Given the description of an element on the screen output the (x, y) to click on. 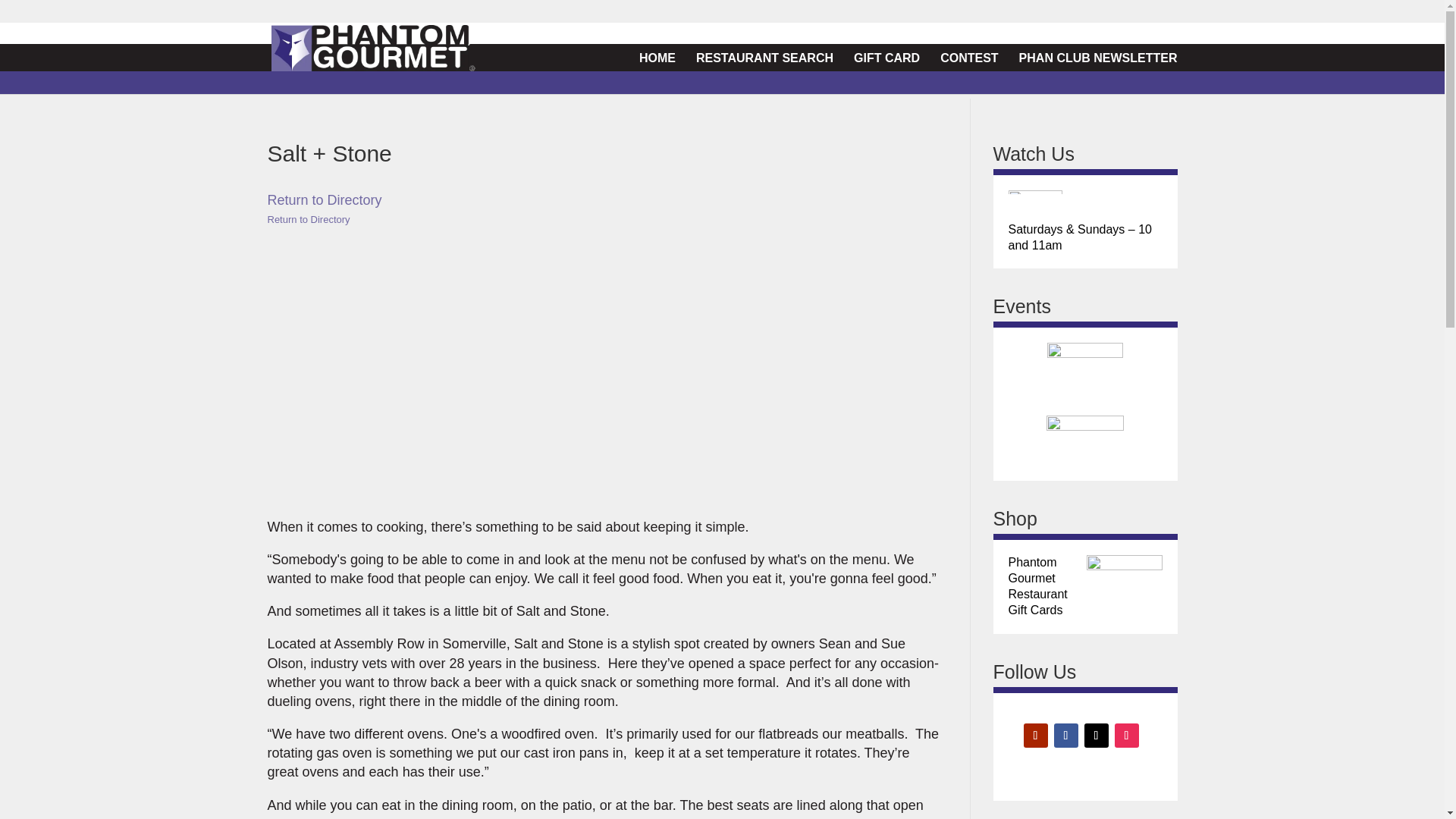
Follow on Facebook (1066, 735)
GIFT CARD (886, 56)
Follow on X (1096, 735)
Follow on Instagram (1126, 735)
Return to Directory (323, 200)
CONTEST (968, 56)
HOME (657, 56)
PHAN CLUB NEWSLETTER (1098, 56)
RESTAURANT SEARCH (763, 56)
Return to Directory (307, 219)
